Given the description of an element on the screen output the (x, y) to click on. 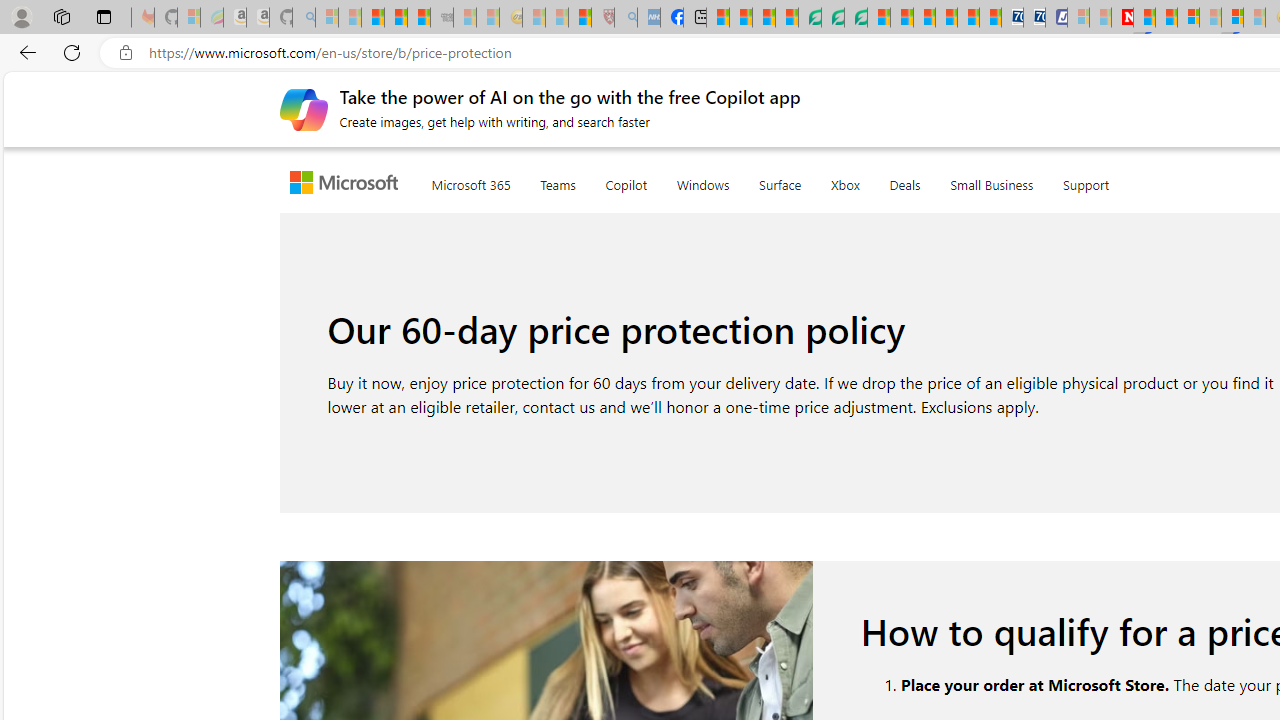
World - MSN (763, 17)
Windows (702, 180)
Windows (702, 181)
Small Business (991, 181)
Recipes - MSN - Sleeping (534, 17)
Xbox (844, 180)
Microsoft-Report a Concern to Bing - Sleeping (188, 17)
Robert H. Shmerling, MD - Harvard Health - Sleeping (602, 17)
14 Common Myths Debunked By Scientific Facts (1166, 17)
